Given the description of an element on the screen output the (x, y) to click on. 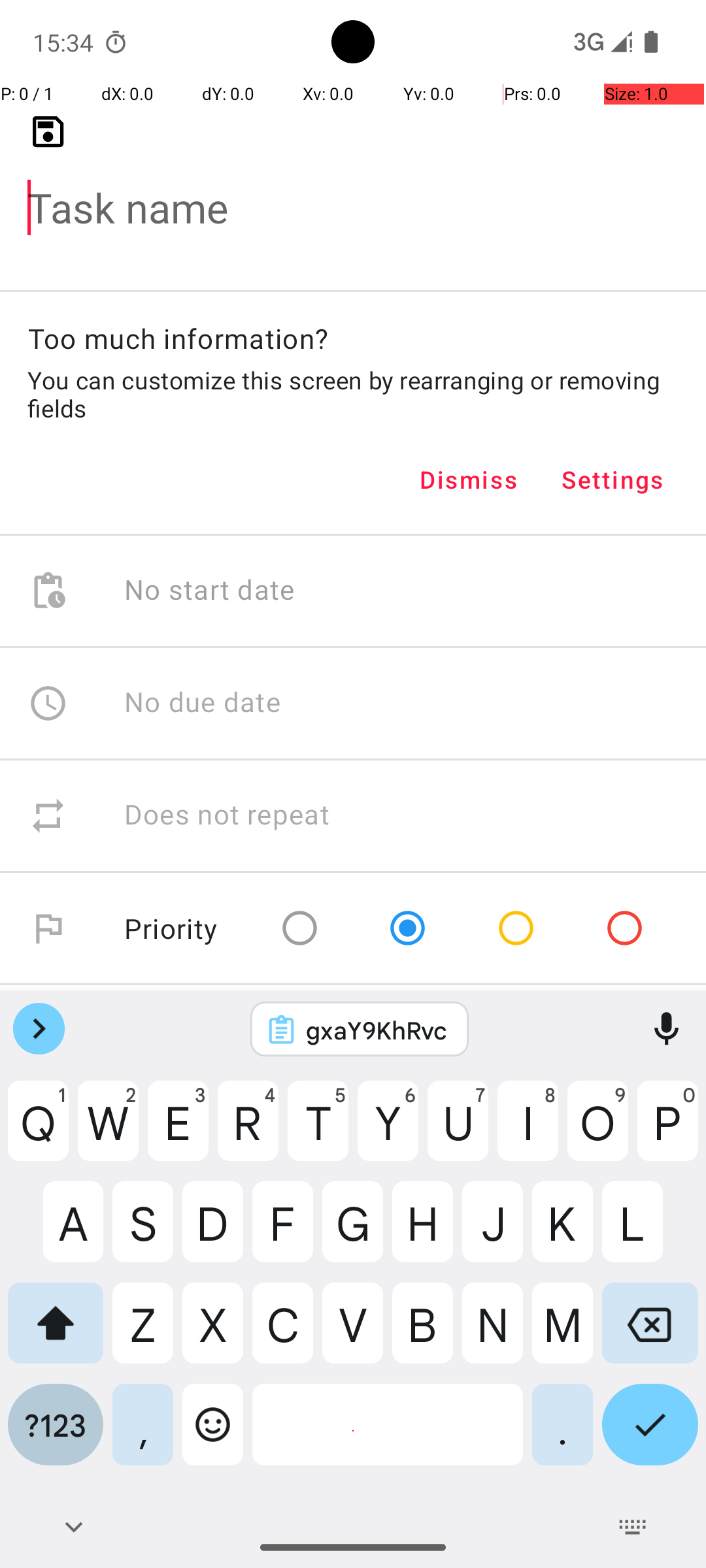
gxaY9KhRvc Element type: android.widget.TextView (376, 1029)
